Given the description of an element on the screen output the (x, y) to click on. 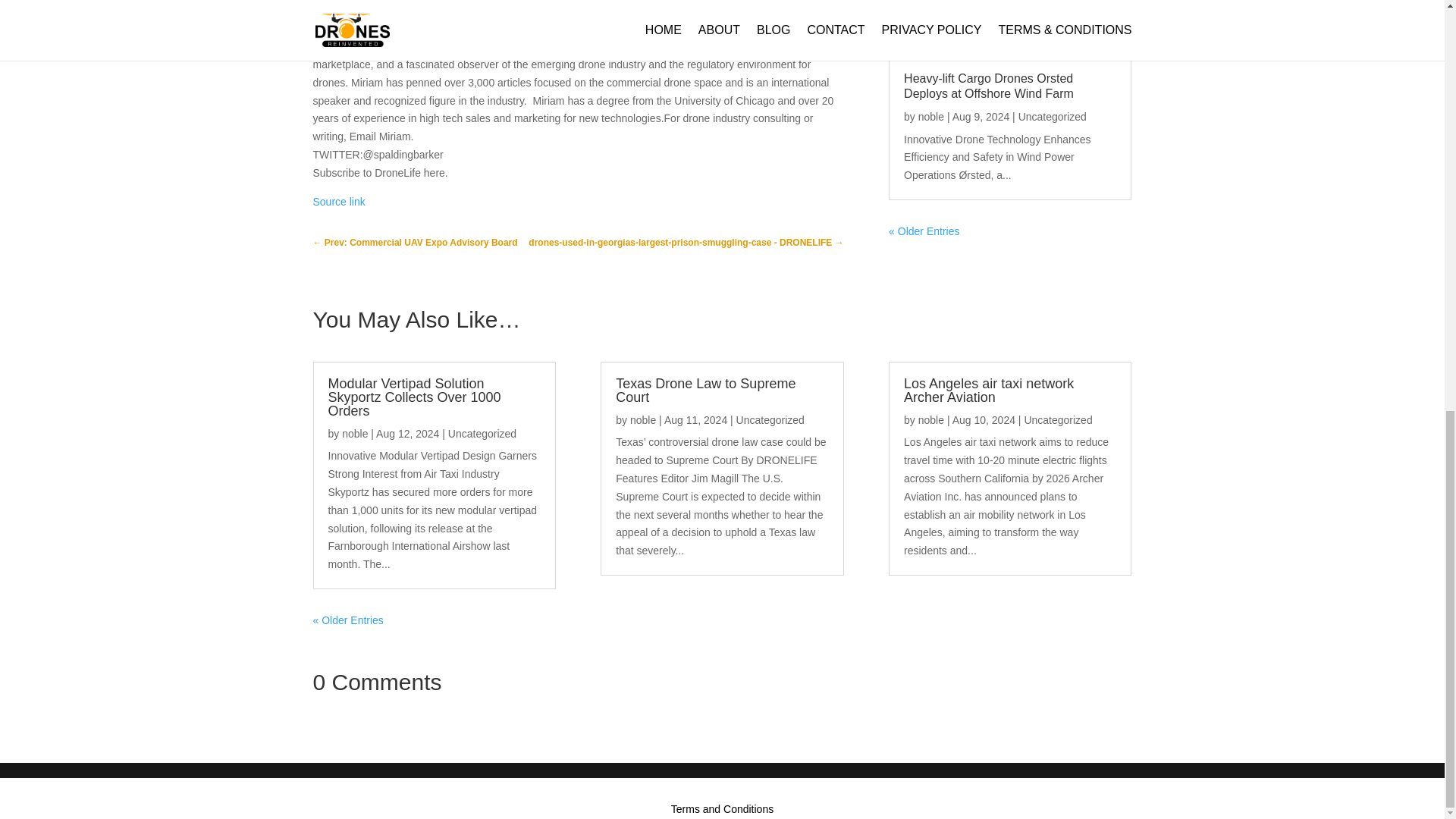
noble (355, 433)
noble (643, 419)
Heavy-lift Cargo Drones Orsted Deploys at Offshore Wind Farm (989, 85)
noble (930, 116)
Uncategorized (482, 433)
Texas Drone Law to Supreme Court (704, 389)
Posts by noble (930, 116)
Uncategorized (1051, 116)
Los Angeles air taxi network Archer Aviation (989, 389)
Modular Vertipad Solution Skyportz Collects Over 1000 Orders (413, 396)
